Given the description of an element on the screen output the (x, y) to click on. 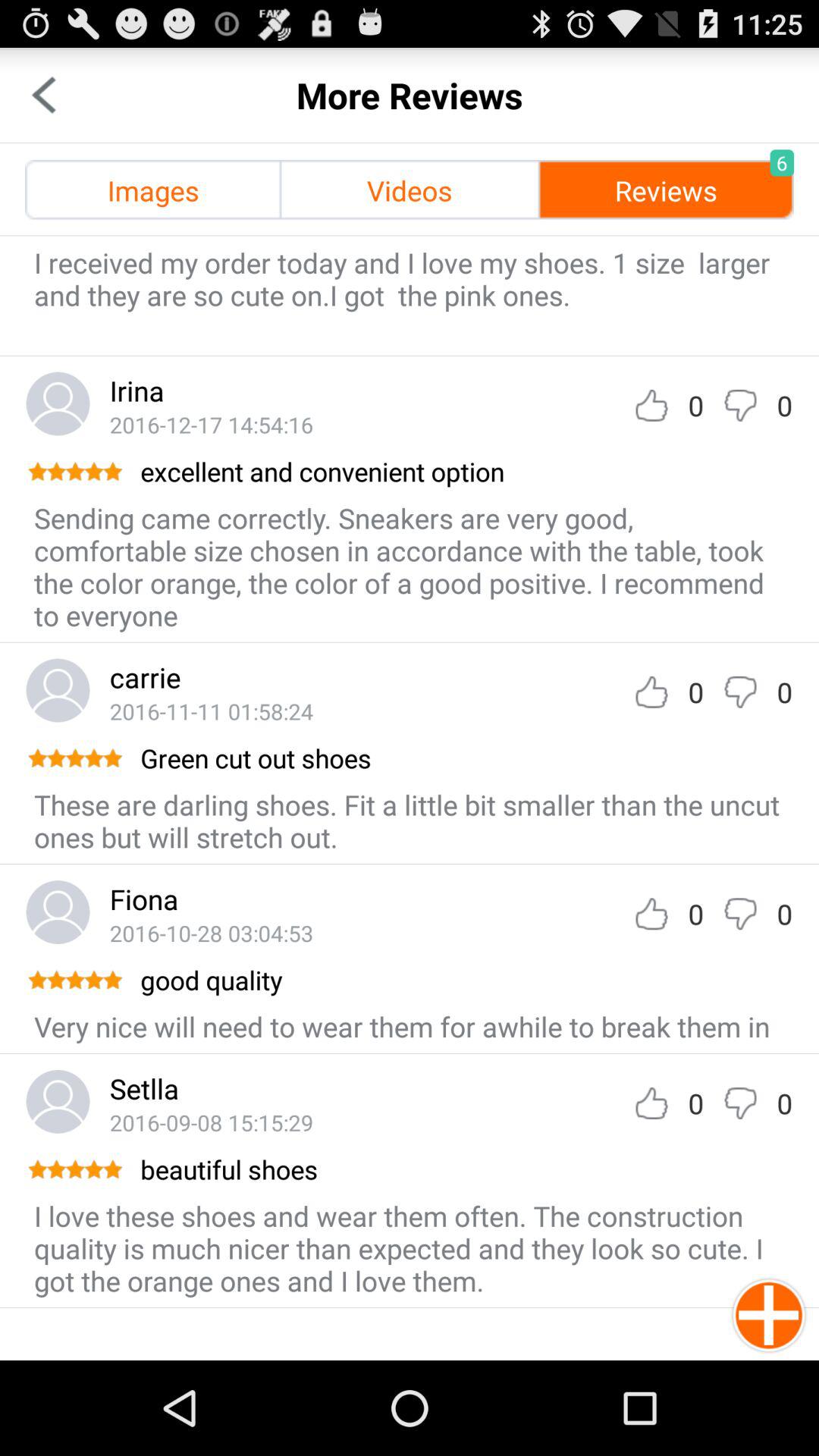
click icon next to videos (153, 189)
